Given the description of an element on the screen output the (x, y) to click on. 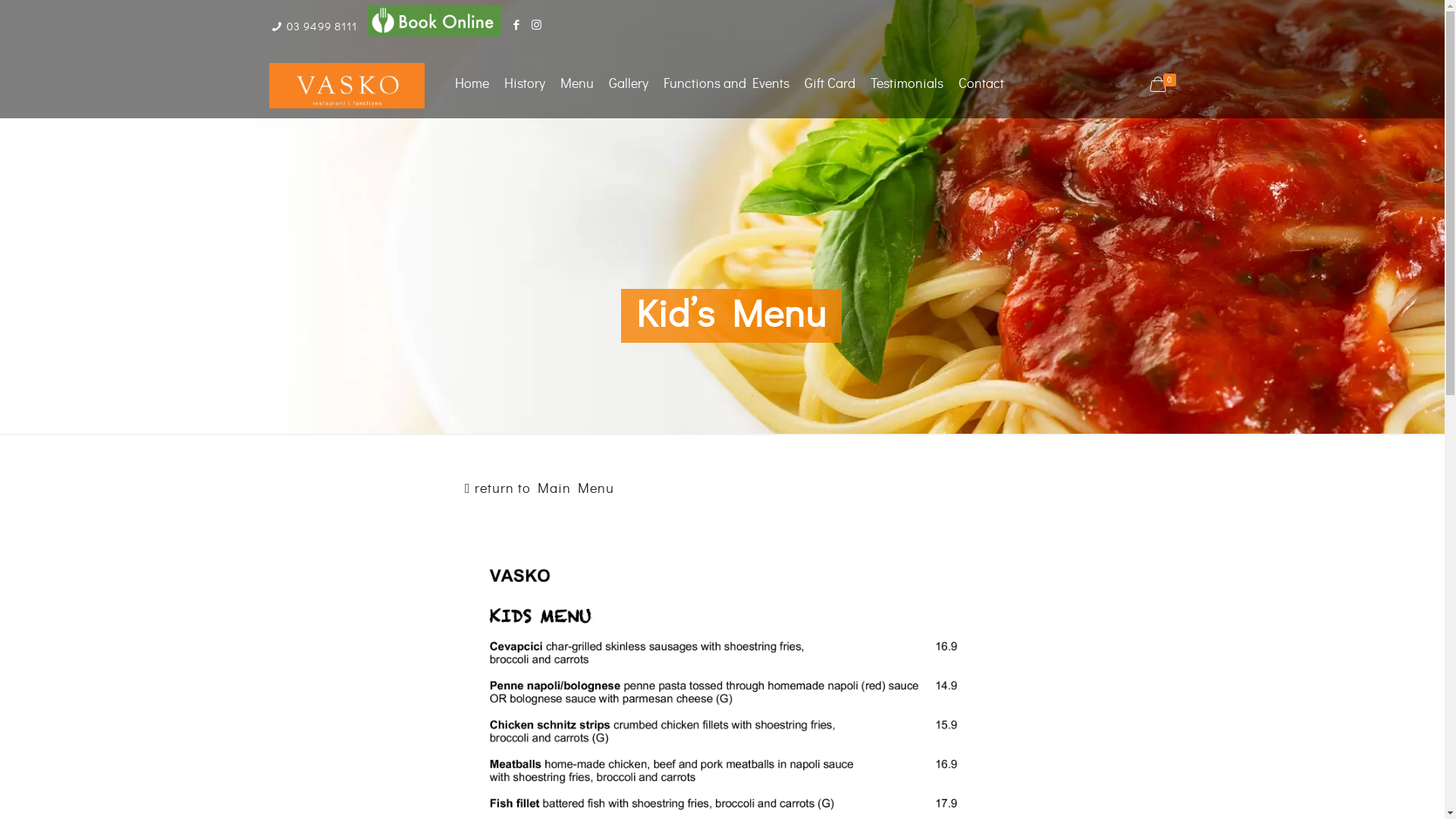
Vasko Restaurant Element type: hover (347, 84)
03 9499 8111 Element type: text (321, 26)
0 Element type: text (1164, 84)
Functions and Events Element type: text (726, 84)
Menu Element type: text (576, 84)
Testimonials Element type: text (906, 84)
Contact Element type: text (980, 84)
Facebook Element type: hover (516, 25)
Instagram Element type: hover (537, 25)
return to Main Menu Element type: text (539, 488)
History Element type: text (524, 84)
Gift Card Element type: text (829, 84)
Gallery Element type: text (628, 84)
Home Element type: text (471, 84)
